Given the description of an element on the screen output the (x, y) to click on. 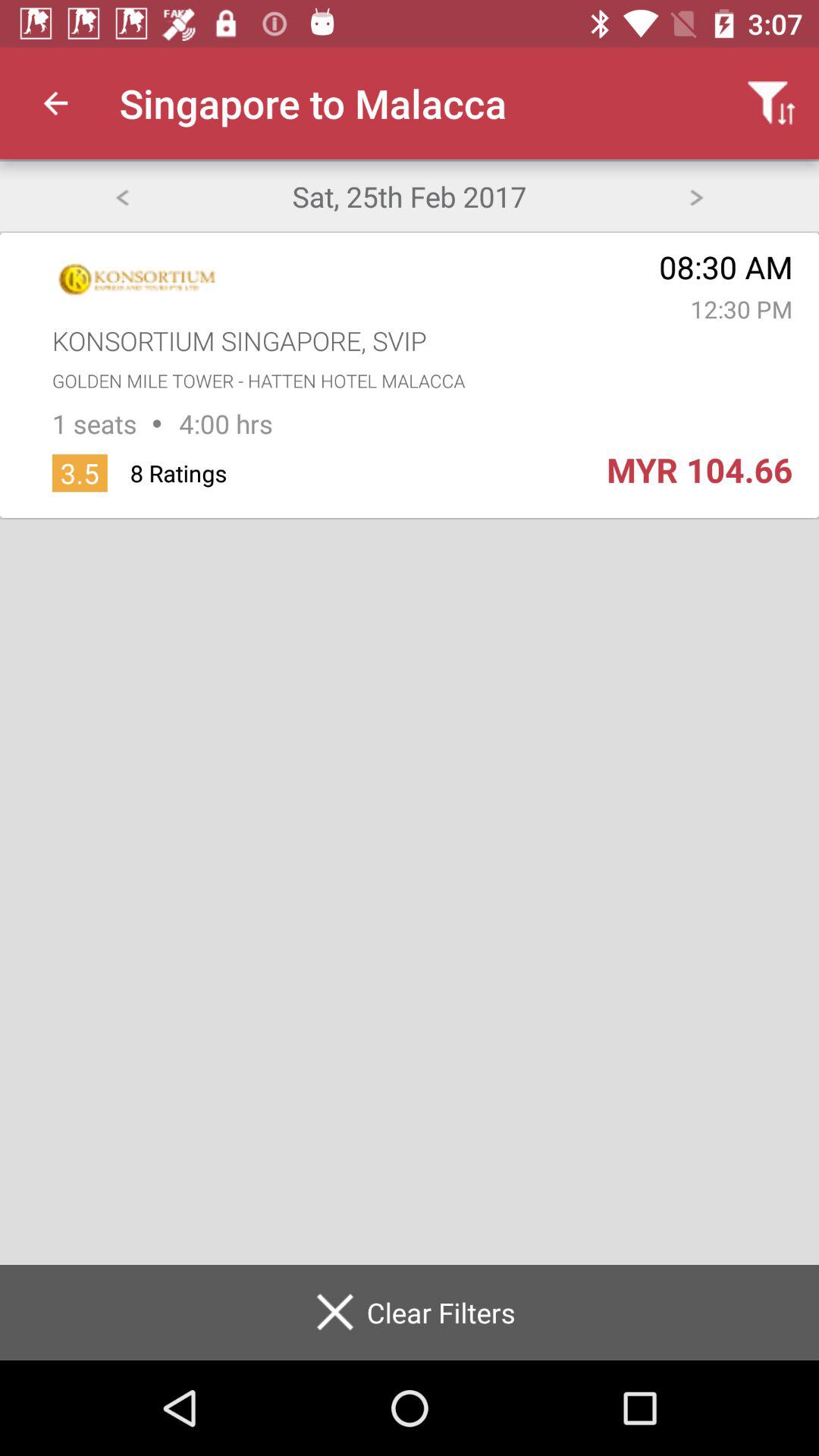
turn off icon next to the sat 25th feb item (696, 196)
